Given the description of an element on the screen output the (x, y) to click on. 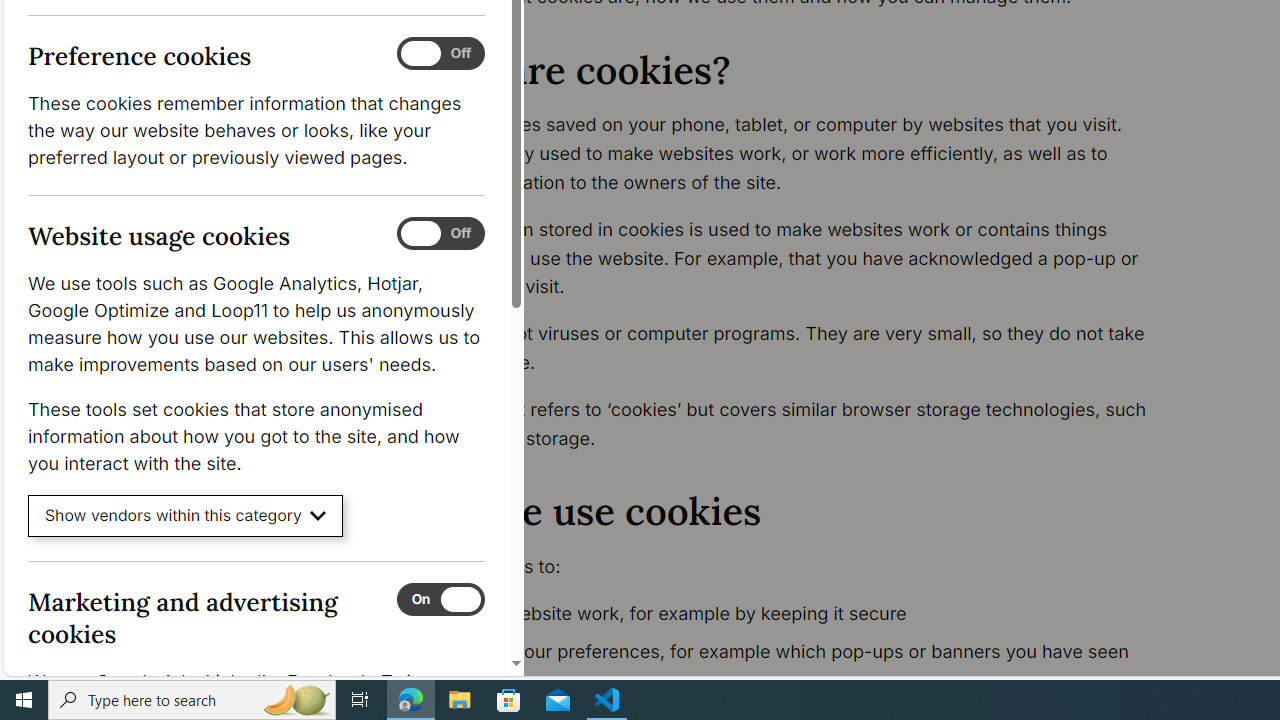
Website usage cookies (440, 233)
make our website work, for example by keeping it secure (796, 614)
Preference cookies (440, 53)
Show vendors within this category (185, 516)
Marketing and advertising cookies (440, 599)
